Given the description of an element on the screen output the (x, y) to click on. 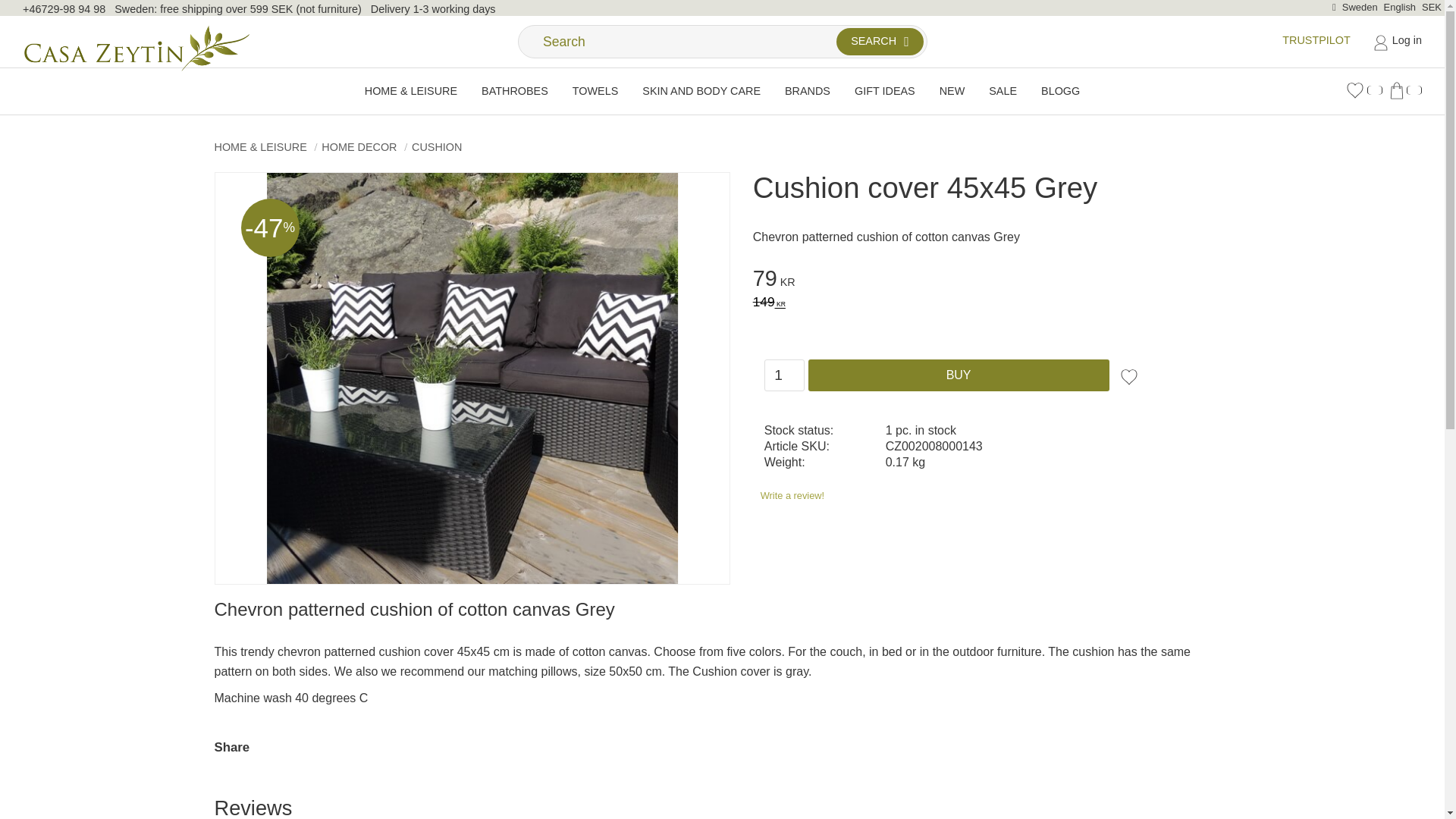
Delivery 1-3 working days (433, 9)
Log in (1397, 40)
1 (784, 375)
TRUSTPILOT (1316, 39)
SEARCH (879, 40)
